Given the description of an element on the screen output the (x, y) to click on. 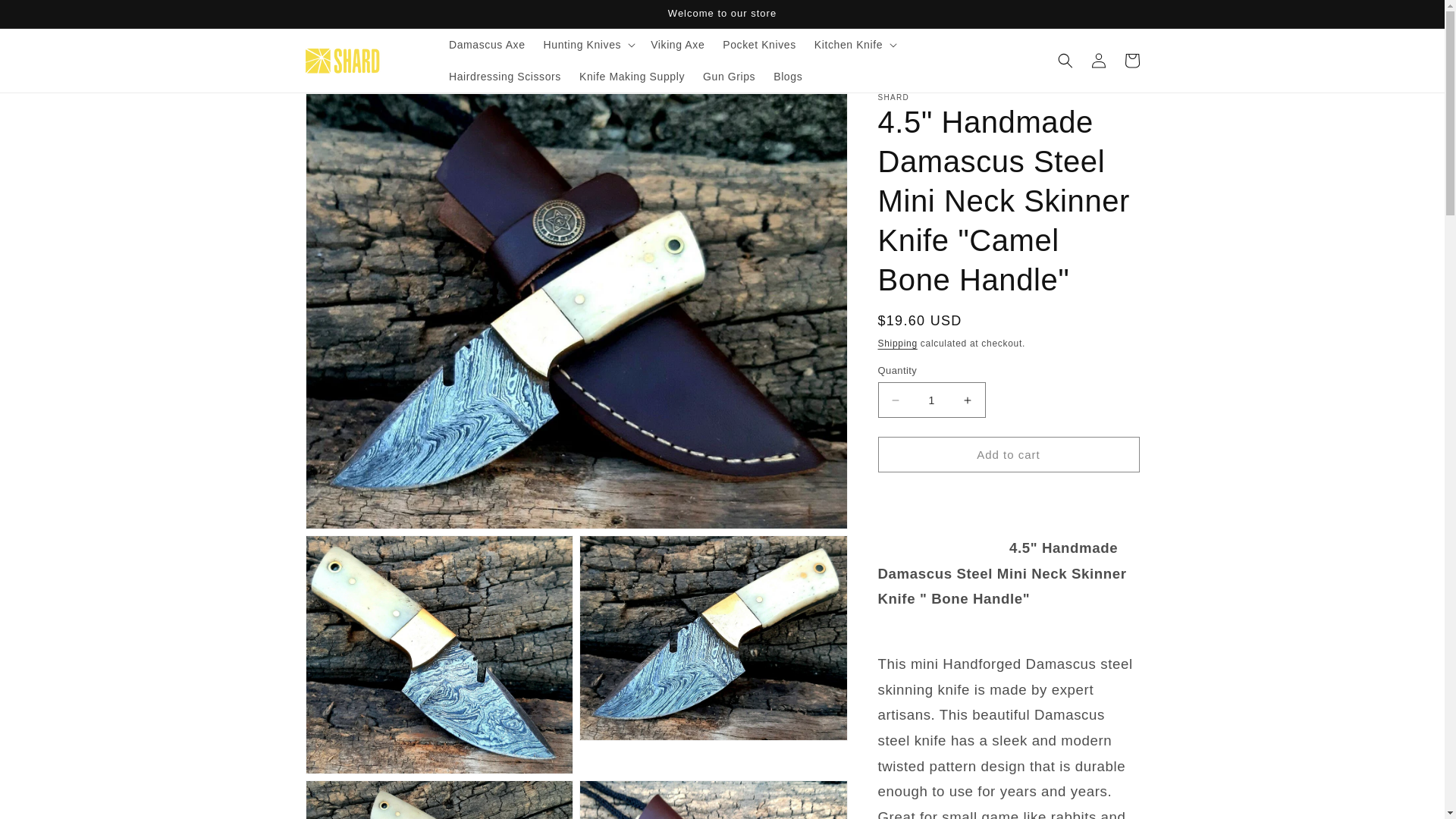
Gun Grips (729, 76)
Skip to product information (350, 109)
Cart (1131, 60)
1 (931, 399)
Skip to content (45, 17)
Viking Axe (677, 44)
Log in (1098, 60)
Blogs (787, 76)
Damascus Axe (486, 44)
Hairdressing Scissors (504, 76)
Pocket Knives (759, 44)
Knife Making Supply (632, 76)
